Given the description of an element on the screen output the (x, y) to click on. 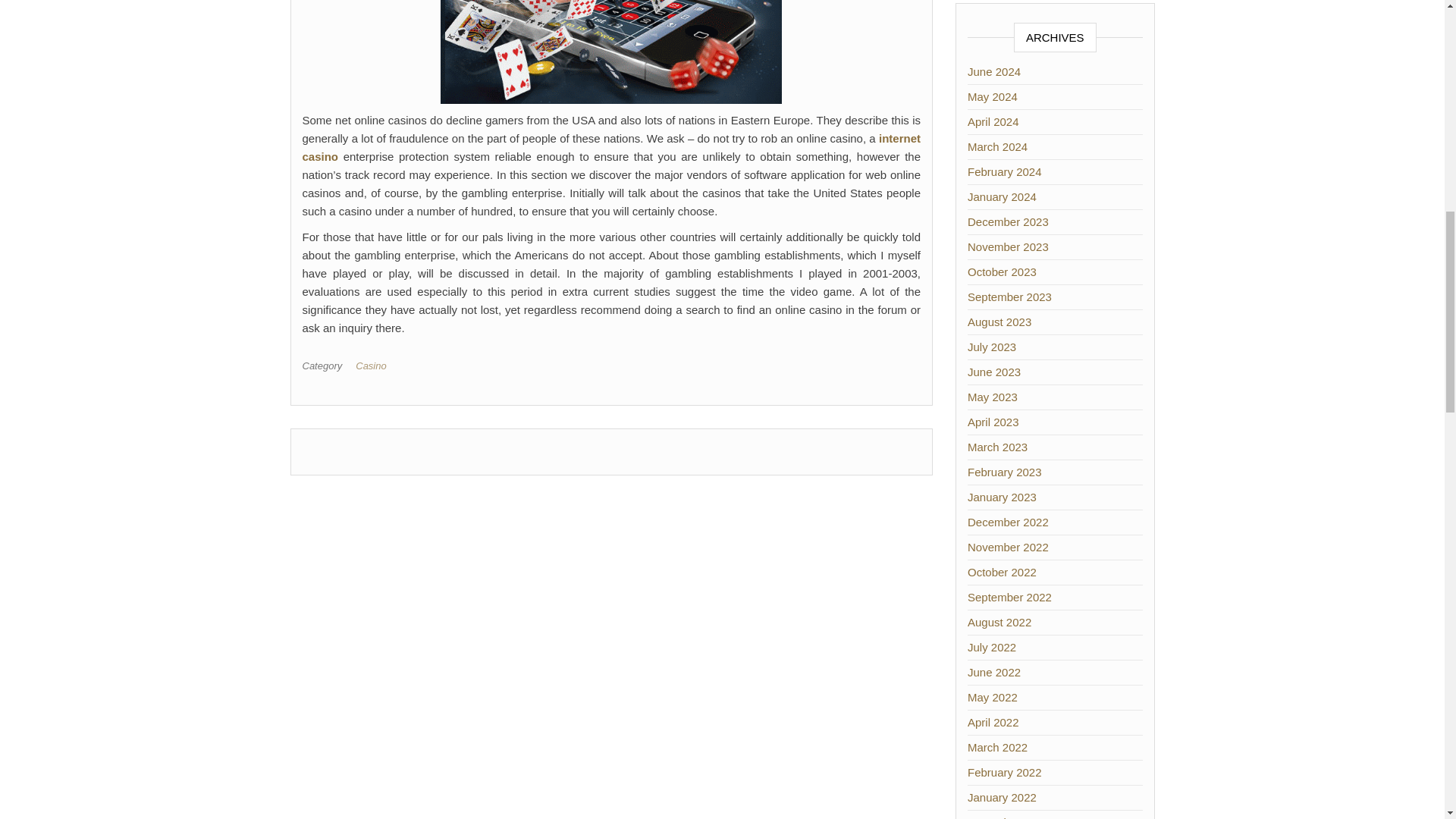
Casino (373, 365)
April 2023 (993, 421)
September 2022 (1009, 596)
November 2022 (1008, 546)
December 2022 (1008, 521)
August 2022 (999, 621)
June 2022 (994, 671)
November 2023 (1008, 246)
July 2023 (992, 346)
October 2022 (1002, 571)
May 2024 (992, 96)
October 2023 (1002, 271)
March 2023 (997, 446)
May 2022 (992, 697)
June 2023 (994, 371)
